Given the description of an element on the screen output the (x, y) to click on. 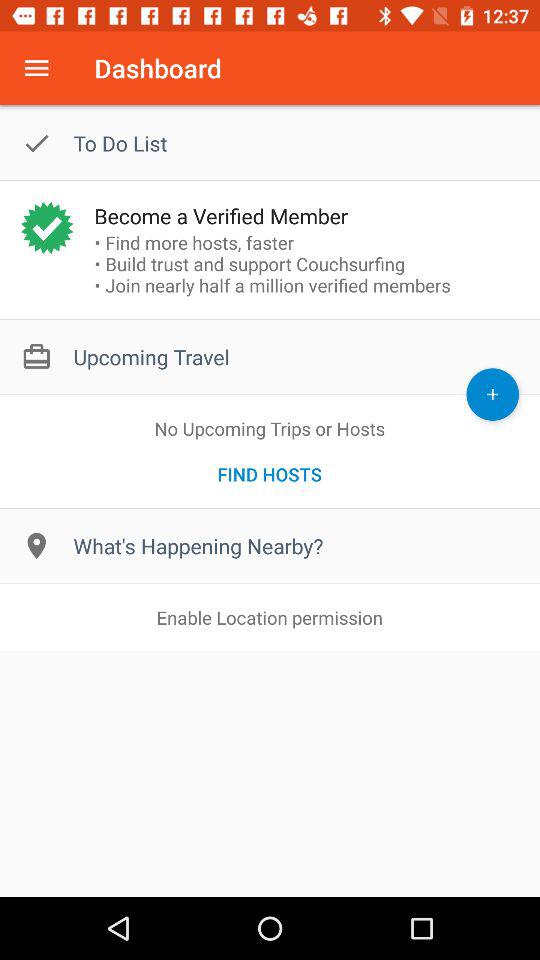
click to add option (492, 394)
